Given the description of an element on the screen output the (x, y) to click on. 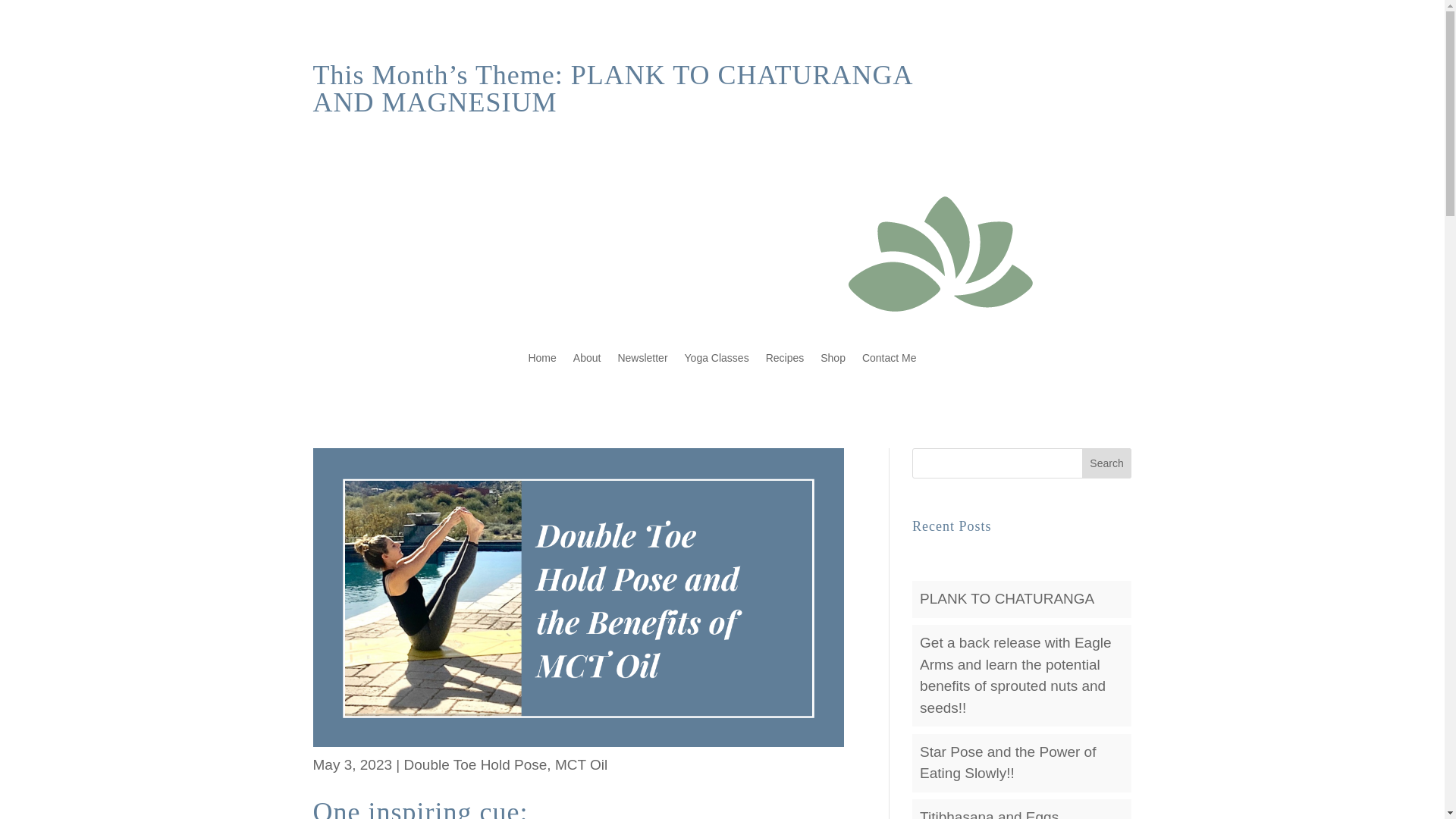
MCT Oil (580, 764)
Star Pose and the Power of Eating Slowly!! (1008, 762)
Titibhasana and Eggs (989, 814)
CLICK HERE (1018, 76)
Search (1106, 462)
Contact Me (889, 357)
Yoga Classes (716, 357)
Search (1106, 462)
PLANK TO CHATURANGA (1007, 598)
Double Toe Hold Pose (475, 764)
